Given the description of an element on the screen output the (x, y) to click on. 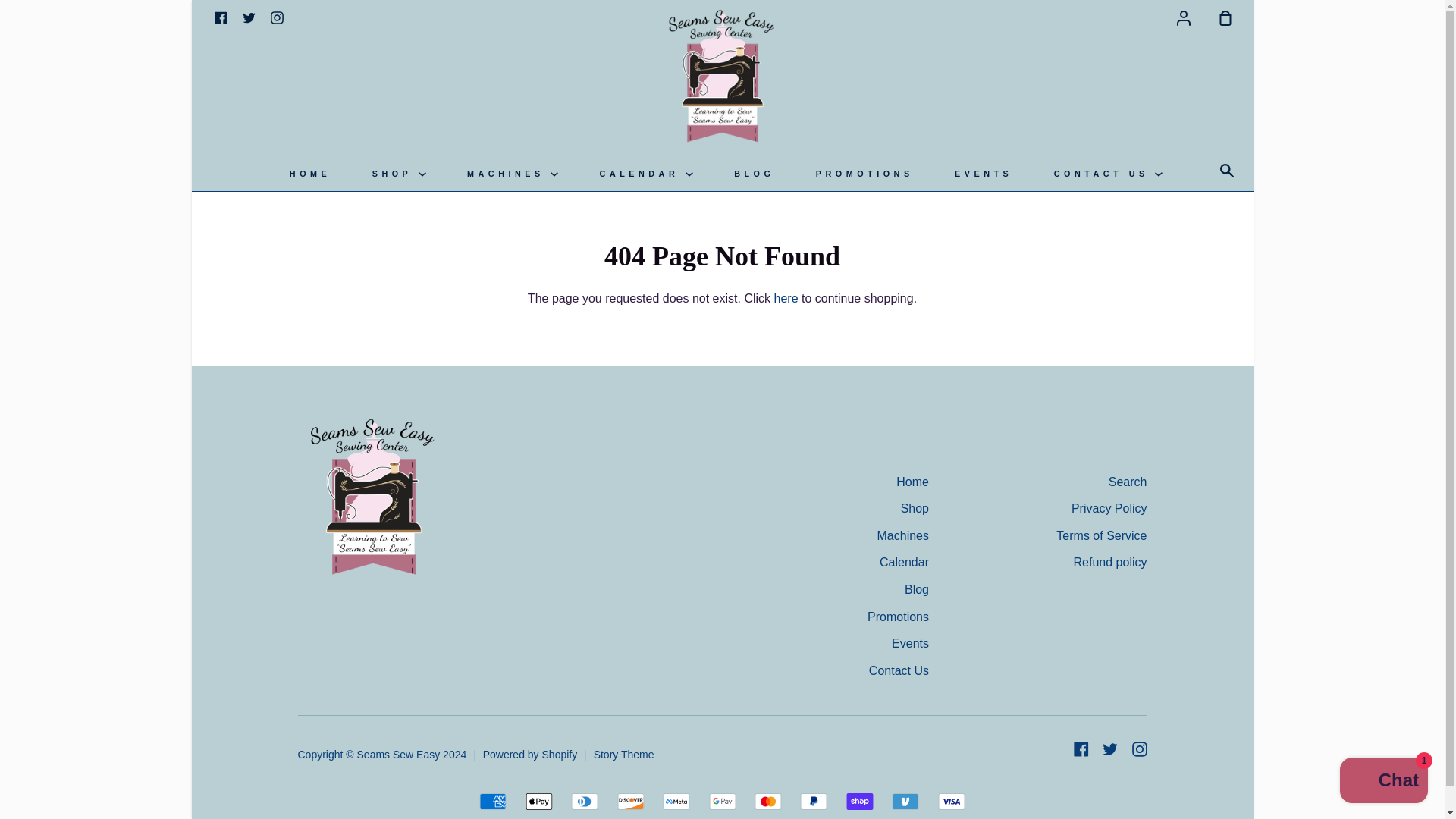
Mastercard (767, 801)
Shop Pay (859, 801)
MACHINES (512, 173)
SHOP (398, 173)
HOME (309, 173)
Discover (630, 801)
American Express (492, 801)
Facebook (220, 16)
Instagram (275, 16)
Seams Sew Easy on Twitter (249, 16)
Diners Club (584, 801)
PayPal (812, 801)
Google Pay (721, 801)
Meta Pay (676, 801)
Seams Sew Easy on Instagram (275, 16)
